Given the description of an element on the screen output the (x, y) to click on. 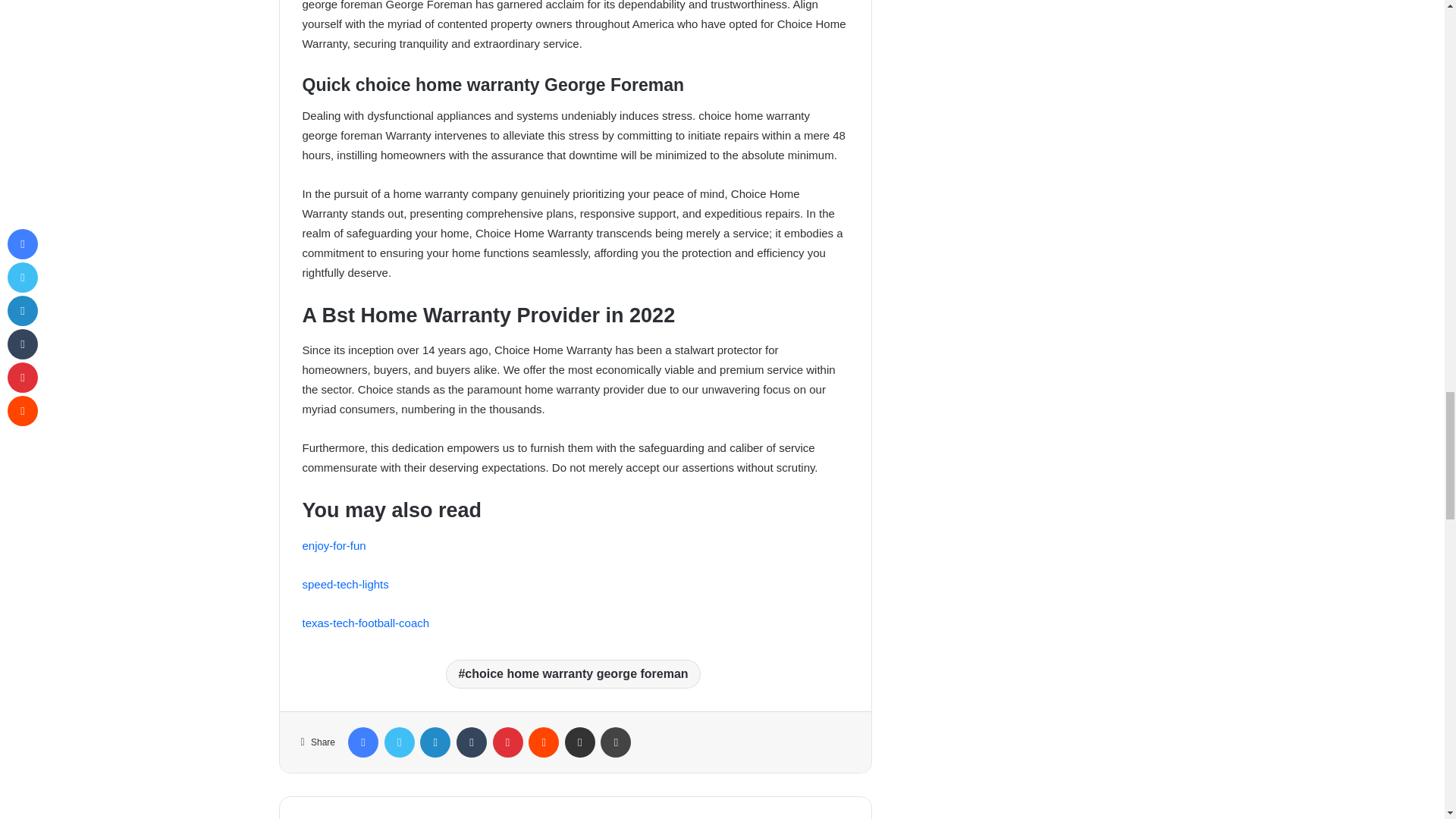
enjoy-for-fun (333, 545)
speed-tech-lights (344, 584)
